Given the description of an element on the screen output the (x, y) to click on. 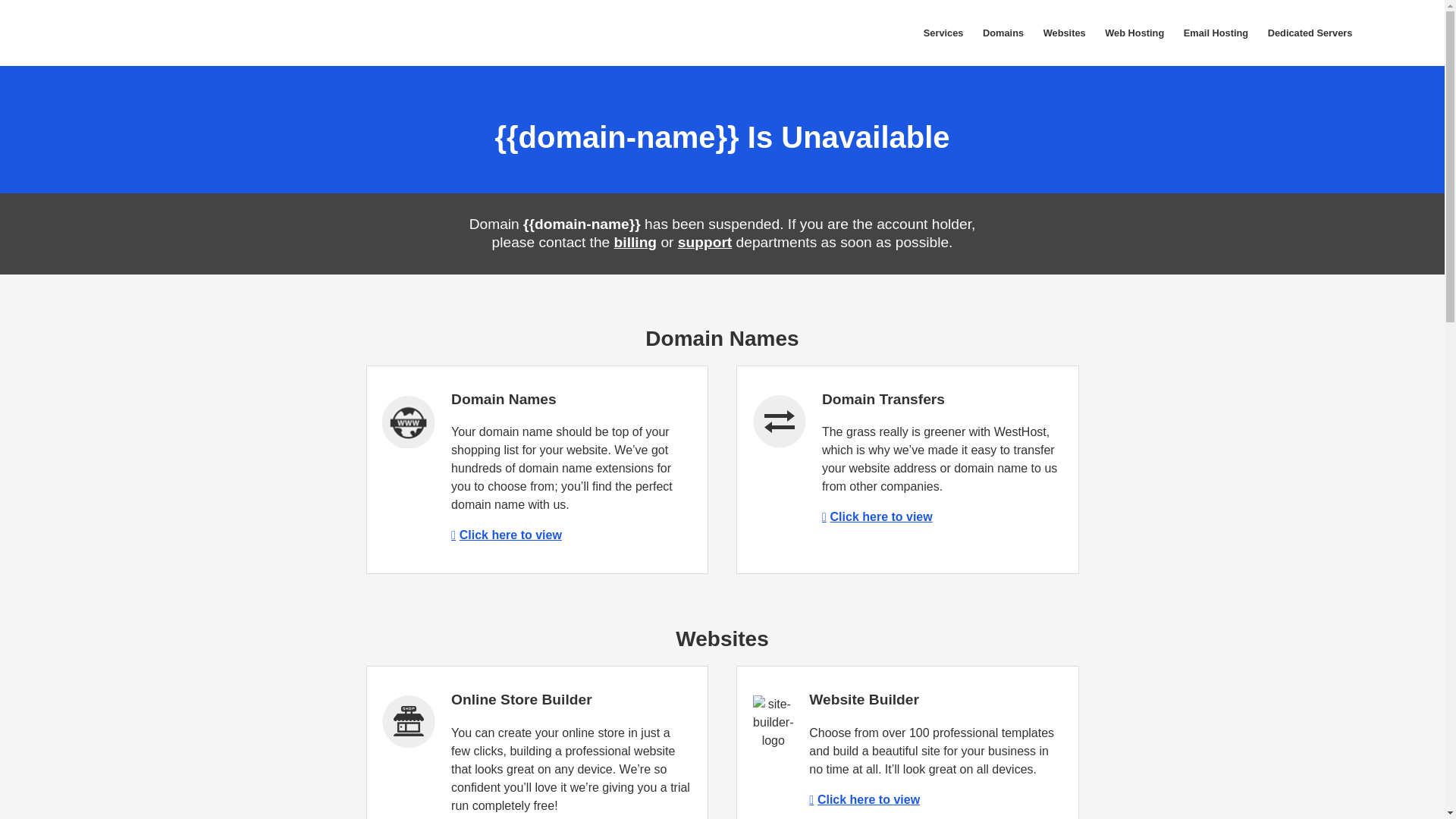
Websites (1064, 32)
Services (943, 32)
Domains (1002, 32)
support (705, 242)
Email Hosting (1215, 32)
Click here to view (864, 799)
Click here to view (877, 516)
Dedicated Servers (1309, 32)
Click here to view (506, 534)
Web Hosting (1133, 32)
billing (636, 242)
